Given the description of an element on the screen output the (x, y) to click on. 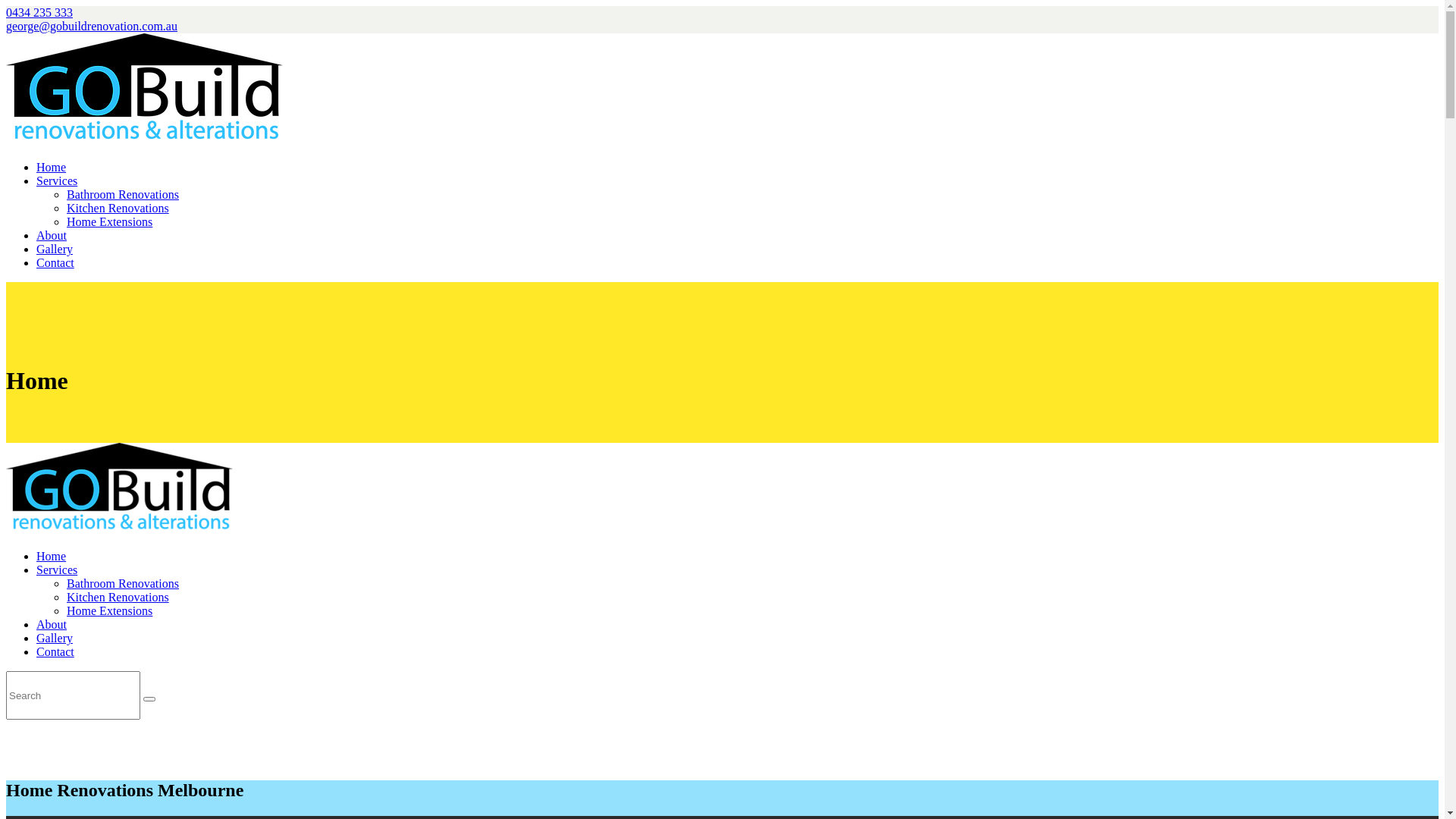
Contact Element type: text (55, 262)
Services Element type: text (56, 180)
Home Element type: text (50, 166)
Home Extensions Element type: text (109, 221)
Bathroom Renovations Element type: text (122, 194)
Gallery Element type: text (54, 637)
About Element type: text (51, 235)
Kitchen Renovations Element type: text (117, 207)
Contact Element type: text (55, 651)
george@gobuildrenovation.com.au Element type: text (91, 25)
Home Element type: text (50, 555)
Home Extensions Element type: text (109, 610)
0434 235 333 Element type: text (39, 12)
Services Element type: text (56, 569)
Kitchen Renovations Element type: text (117, 596)
About Element type: text (51, 624)
Gallery Element type: text (54, 248)
Bathroom Renovations Element type: text (122, 583)
